Given the description of an element on the screen output the (x, y) to click on. 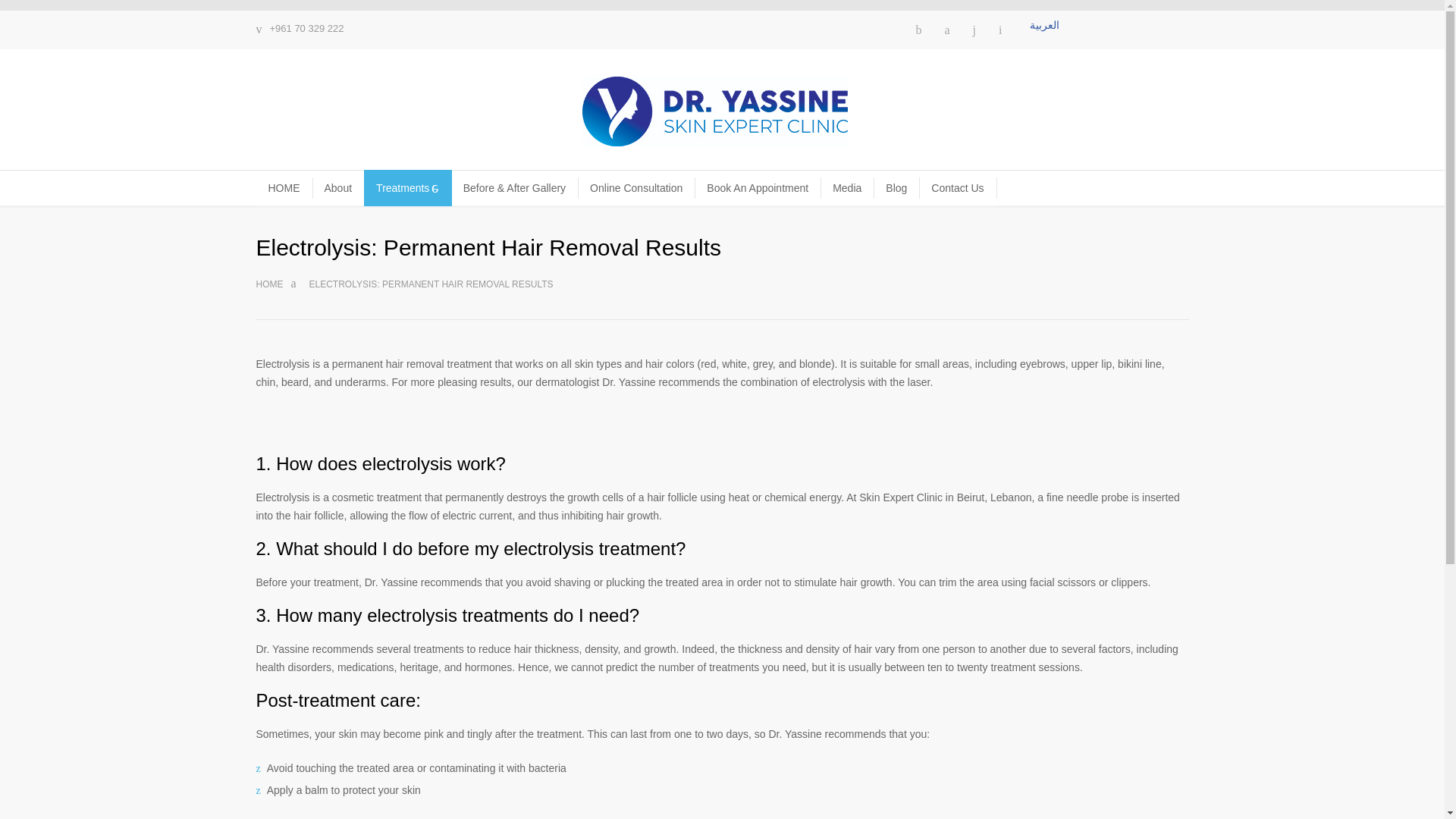
Treatments (407, 187)
Home (269, 284)
About (339, 187)
HOME (284, 187)
